Given the description of an element on the screen output the (x, y) to click on. 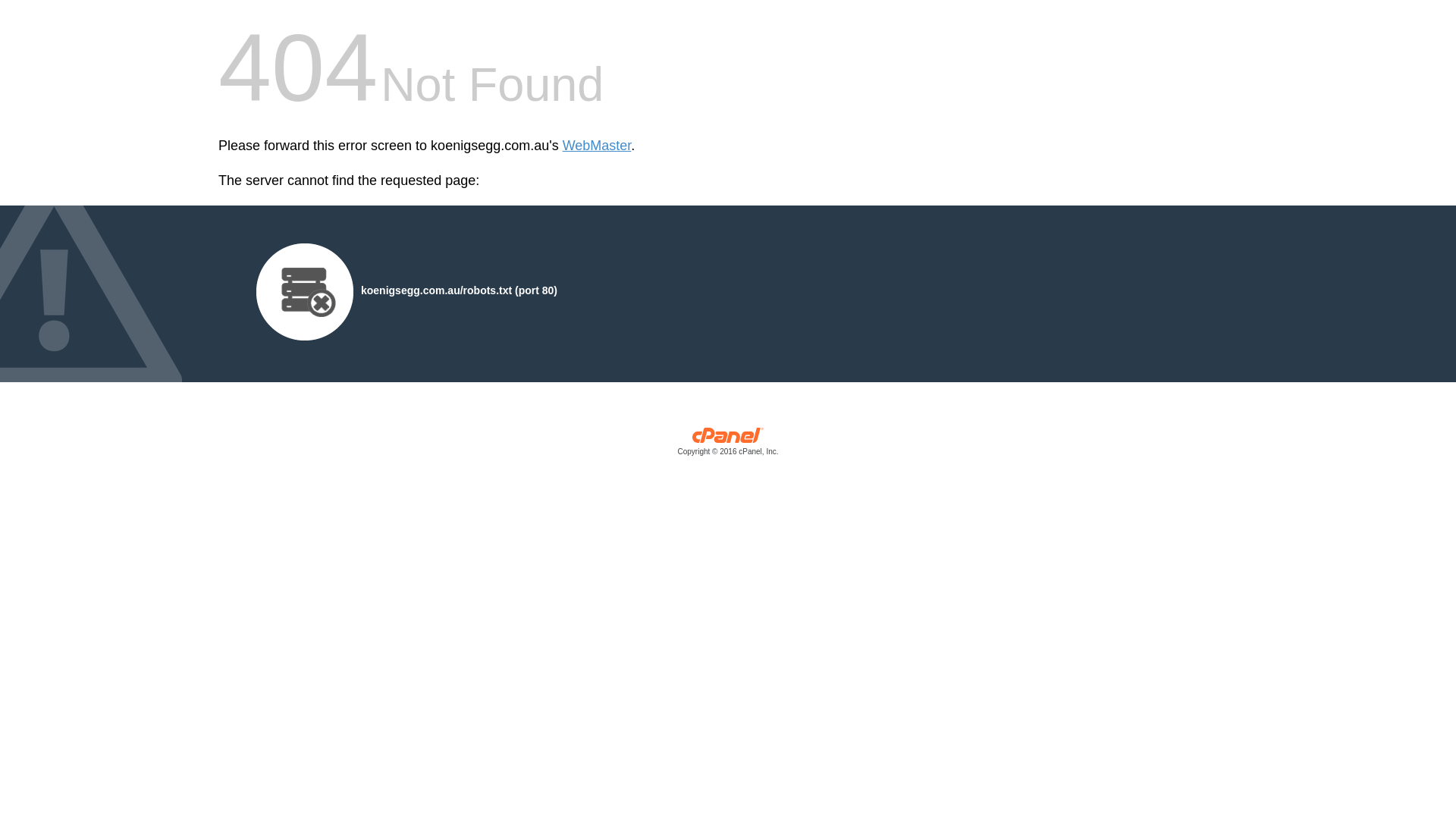
WebMaster Element type: text (596, 145)
